Given the description of an element on the screen output the (x, y) to click on. 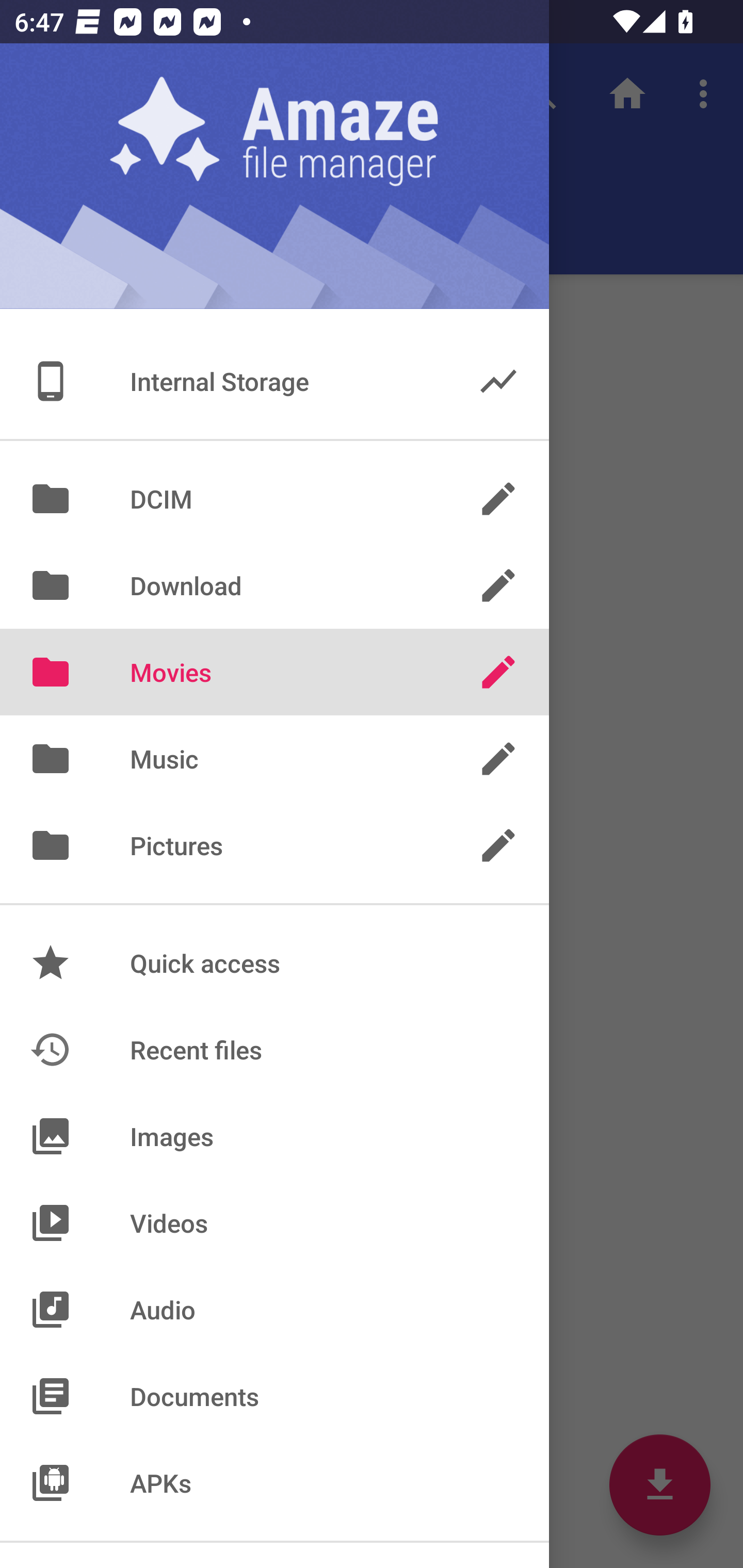
Internal Storage (274, 380)
DCIM (274, 498)
Download (274, 585)
Movies (274, 671)
Music (274, 758)
Pictures (274, 845)
Quick access (274, 963)
Recent files (274, 1049)
Images (274, 1135)
Videos (274, 1222)
Audio (274, 1309)
Documents (274, 1396)
APKs (274, 1482)
